Given the description of an element on the screen output the (x, y) to click on. 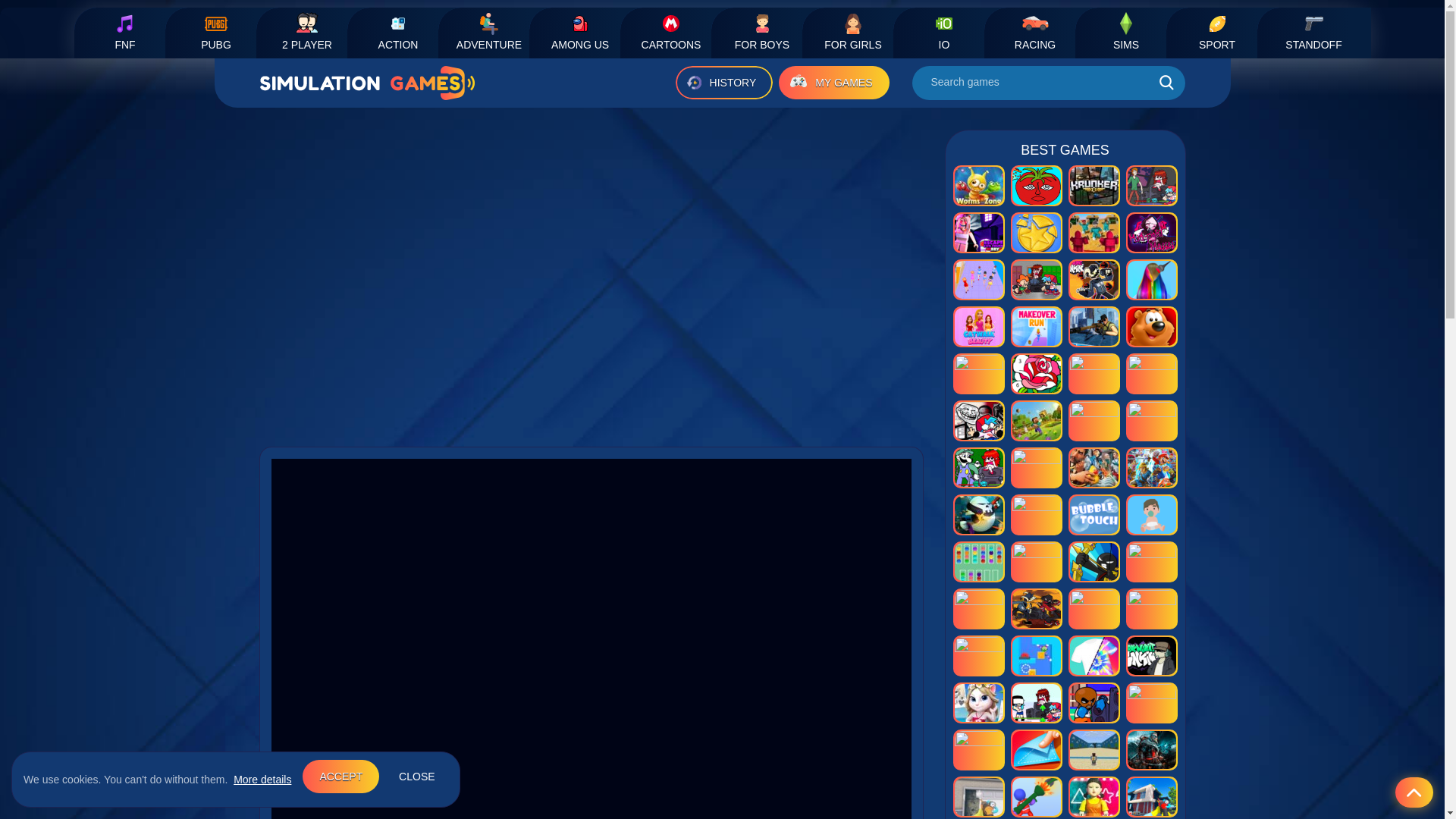
ADVENTURE (494, 32)
For boys (768, 32)
HISTORY (724, 82)
Among Us (586, 32)
2 Player (312, 32)
FOR GIRLS (858, 32)
Racing (1040, 32)
Worms Zone (978, 185)
RACING (1040, 32)
IO (950, 32)
